Given the description of an element on the screen output the (x, y) to click on. 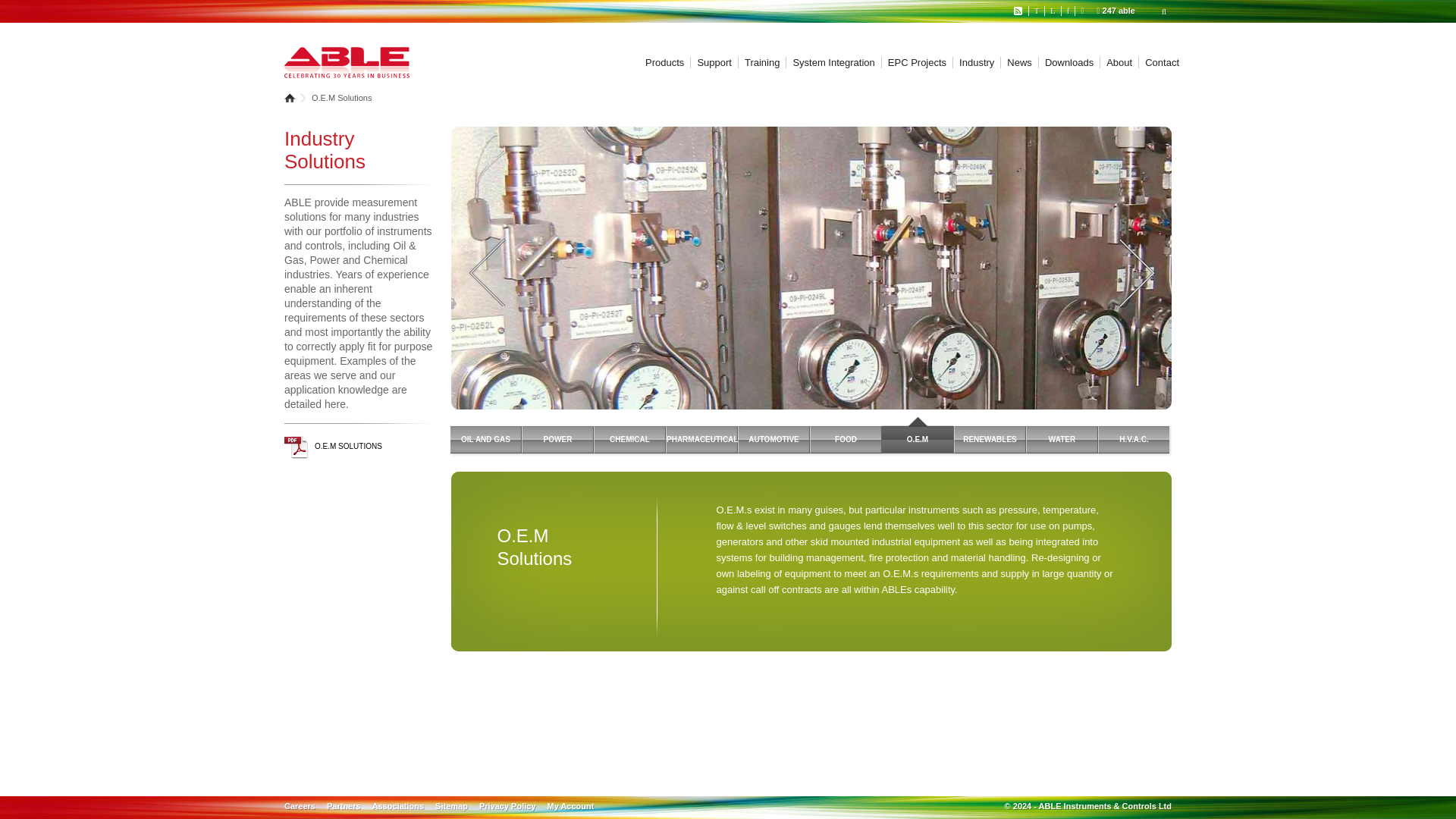
Back to the Able Homepage (346, 63)
Products (664, 61)
Training (758, 61)
Support (711, 61)
Go to O.E.M Solutions. (341, 97)
247 able (1115, 10)
EPC Projects (913, 61)
Go (40, 12)
System Integration (830, 61)
